Given the description of an element on the screen output the (x, y) to click on. 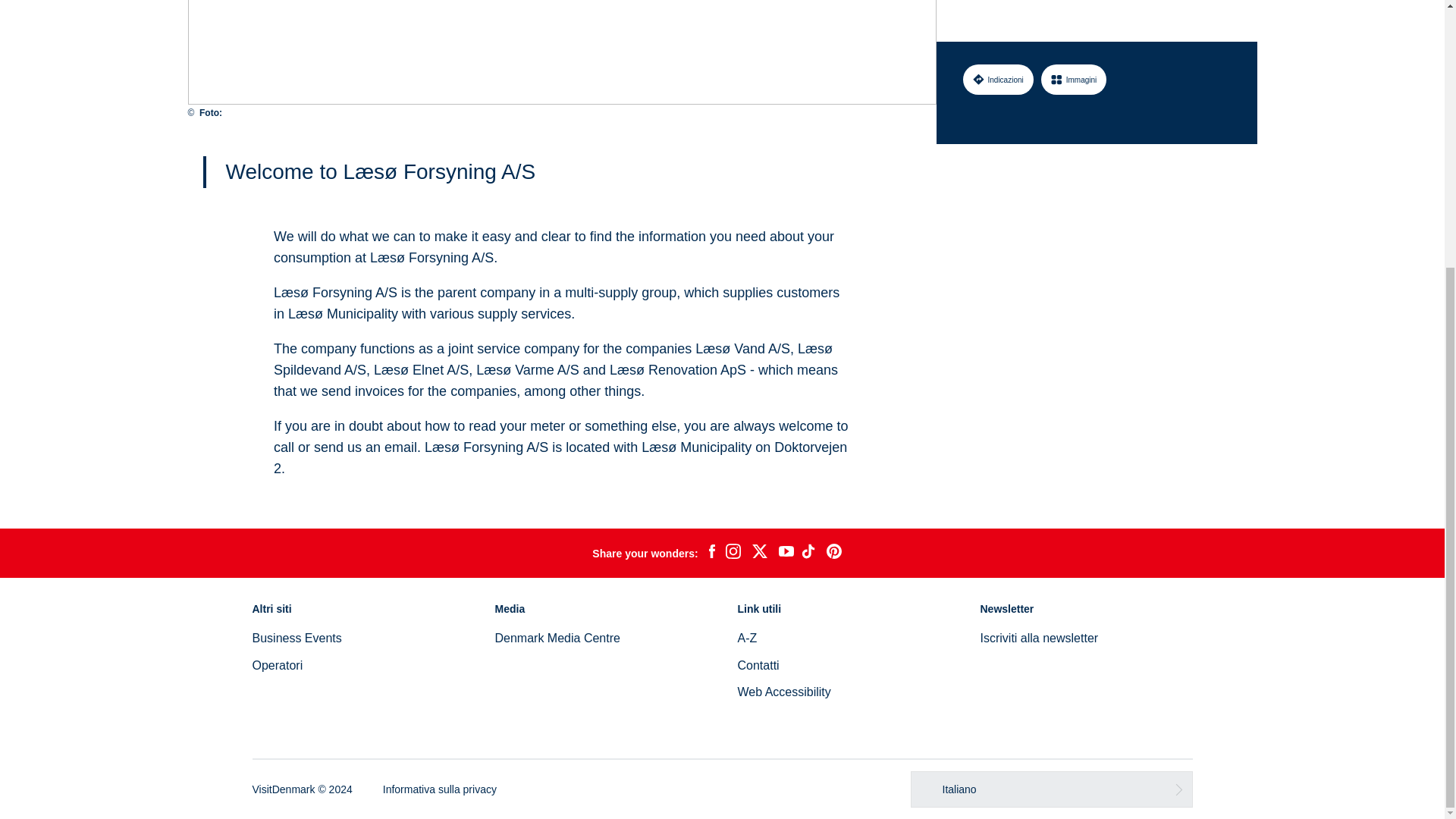
pinterest (834, 553)
Informativa sulla privacy (439, 789)
Operatori (276, 665)
youtube (786, 553)
Denmark Media Centre (557, 637)
Business Events (295, 637)
instagram (732, 553)
Operatori (276, 665)
Iscriviti alla newsletter (1038, 637)
Informativa sulla privacy (439, 789)
Web Accessibility (782, 691)
A-Z (746, 637)
Contatti (757, 665)
twitter (759, 553)
facebook (711, 553)
